Given the description of an element on the screen output the (x, y) to click on. 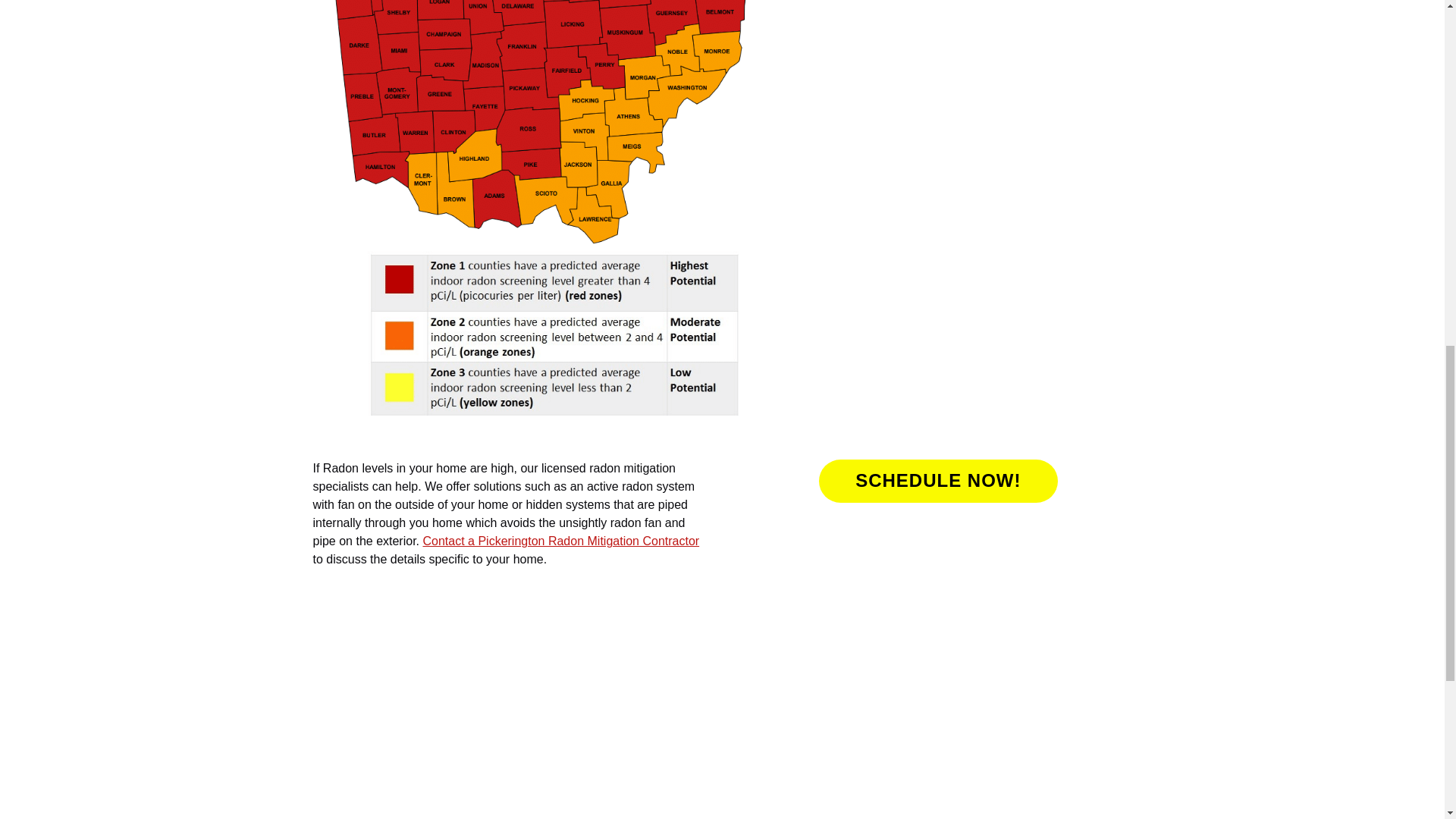
SCHEDULE NOW! (937, 480)
Contact a Pickerington Radon Mitigation Contractor (560, 540)
